Given the description of an element on the screen output the (x, y) to click on. 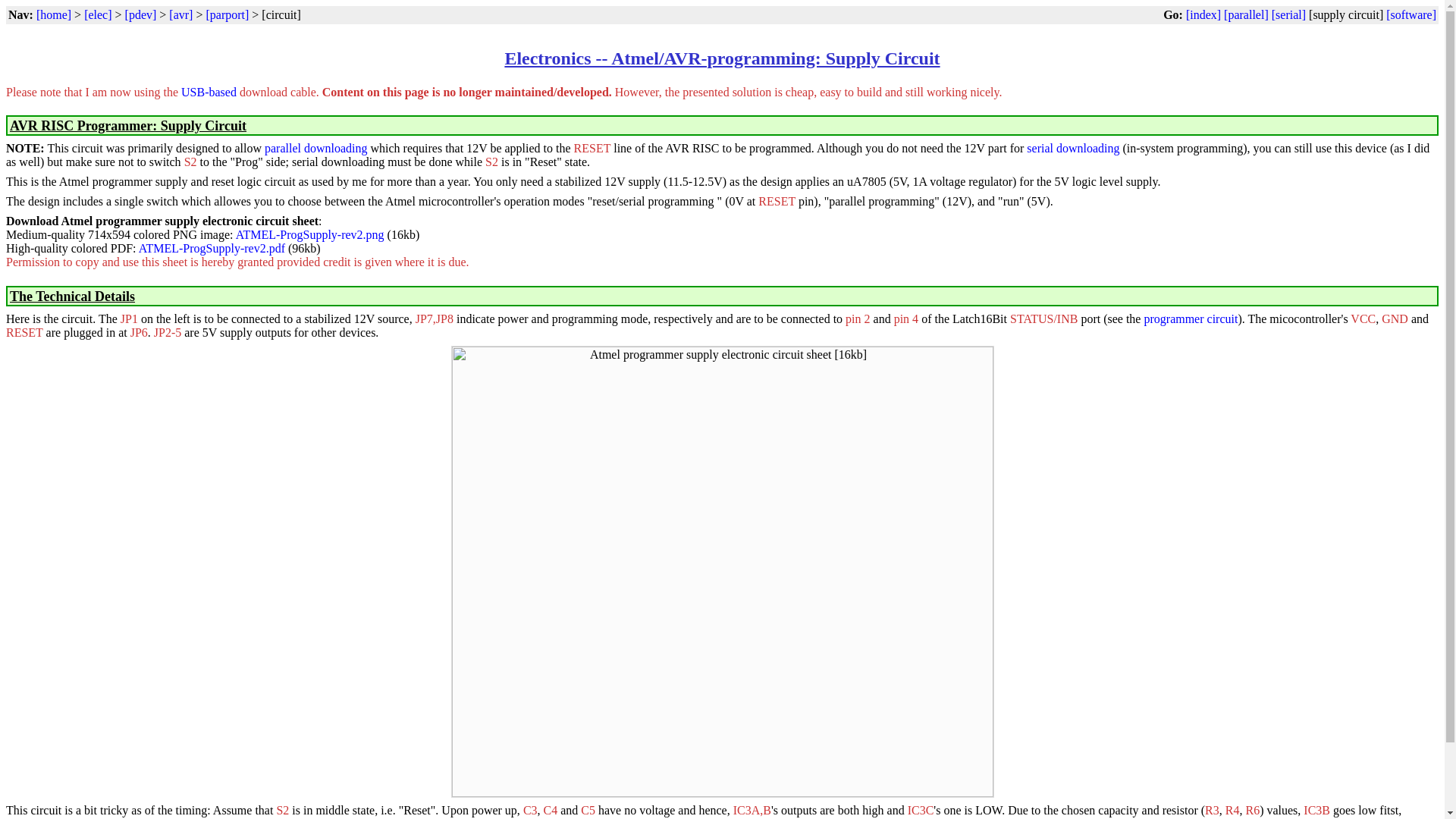
USB-based (207, 91)
parallel downloading (316, 147)
programmer circuit (1189, 318)
serial downloading (1072, 147)
ATMEL-ProgSupply-rev2.png (309, 234)
ATMEL-ProgSupply-rev2.pdf (211, 247)
